Given the description of an element on the screen output the (x, y) to click on. 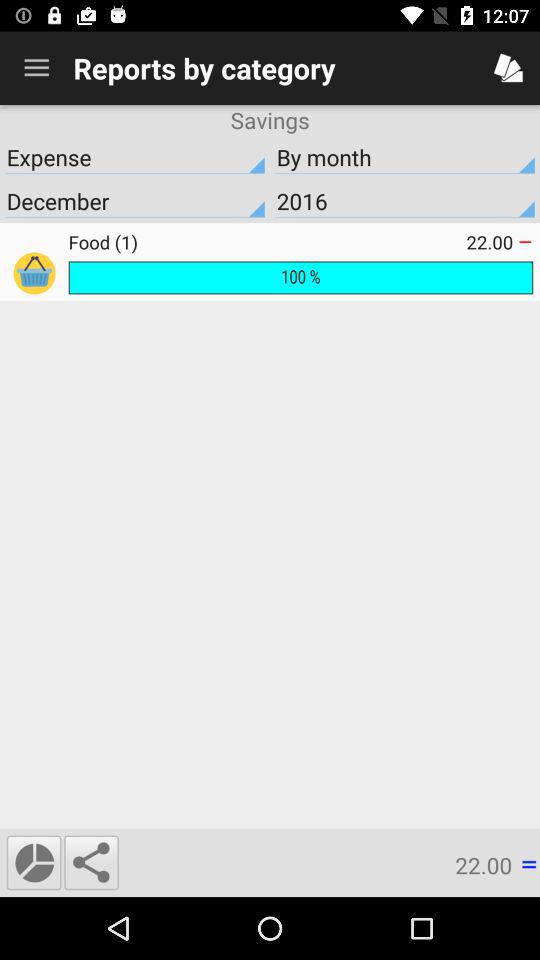
display a pie chart (33, 862)
